Given the description of an element on the screen output the (x, y) to click on. 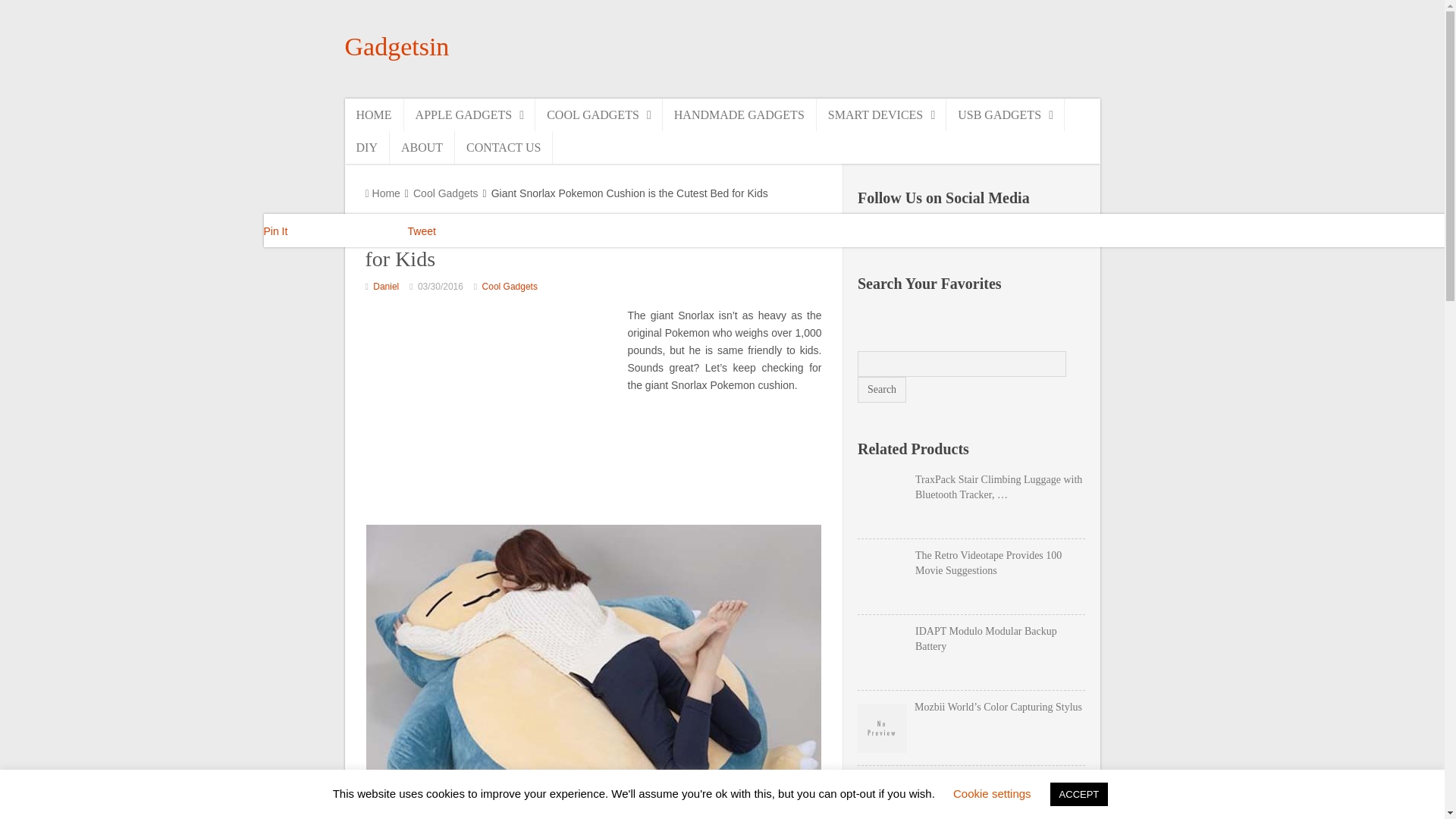
Daniel (385, 286)
The Retro Videotape Provides 100 Movie Suggestions (970, 562)
Search (881, 389)
COOL GADGETS (598, 114)
ABOUT (422, 147)
Tweet (421, 231)
Email (1001, 233)
Cool Gadgets (509, 286)
Gadgetsin (395, 46)
CONTACT US (503, 147)
